Given the description of an element on the screen output the (x, y) to click on. 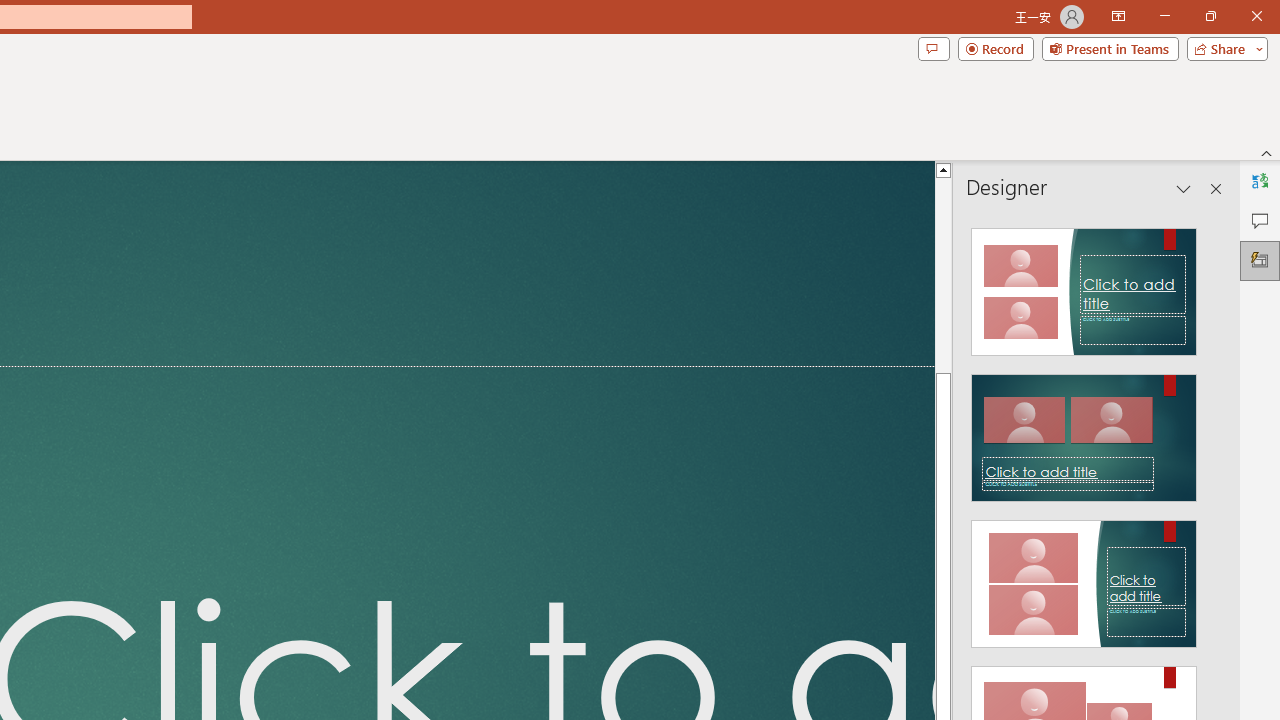
Recommended Design: Design Idea (1083, 286)
Collapse the Ribbon (1267, 152)
Designer (1260, 260)
Class: NetUIImage (1083, 584)
Present in Teams (1109, 48)
Task Pane Options (1183, 188)
Ribbon Display Options (1118, 16)
Close pane (1215, 188)
Translator (1260, 180)
Design Idea (1083, 577)
Close (1256, 16)
Share (1223, 48)
Restore Down (1210, 16)
Line up (943, 169)
